Given the description of an element on the screen output the (x, y) to click on. 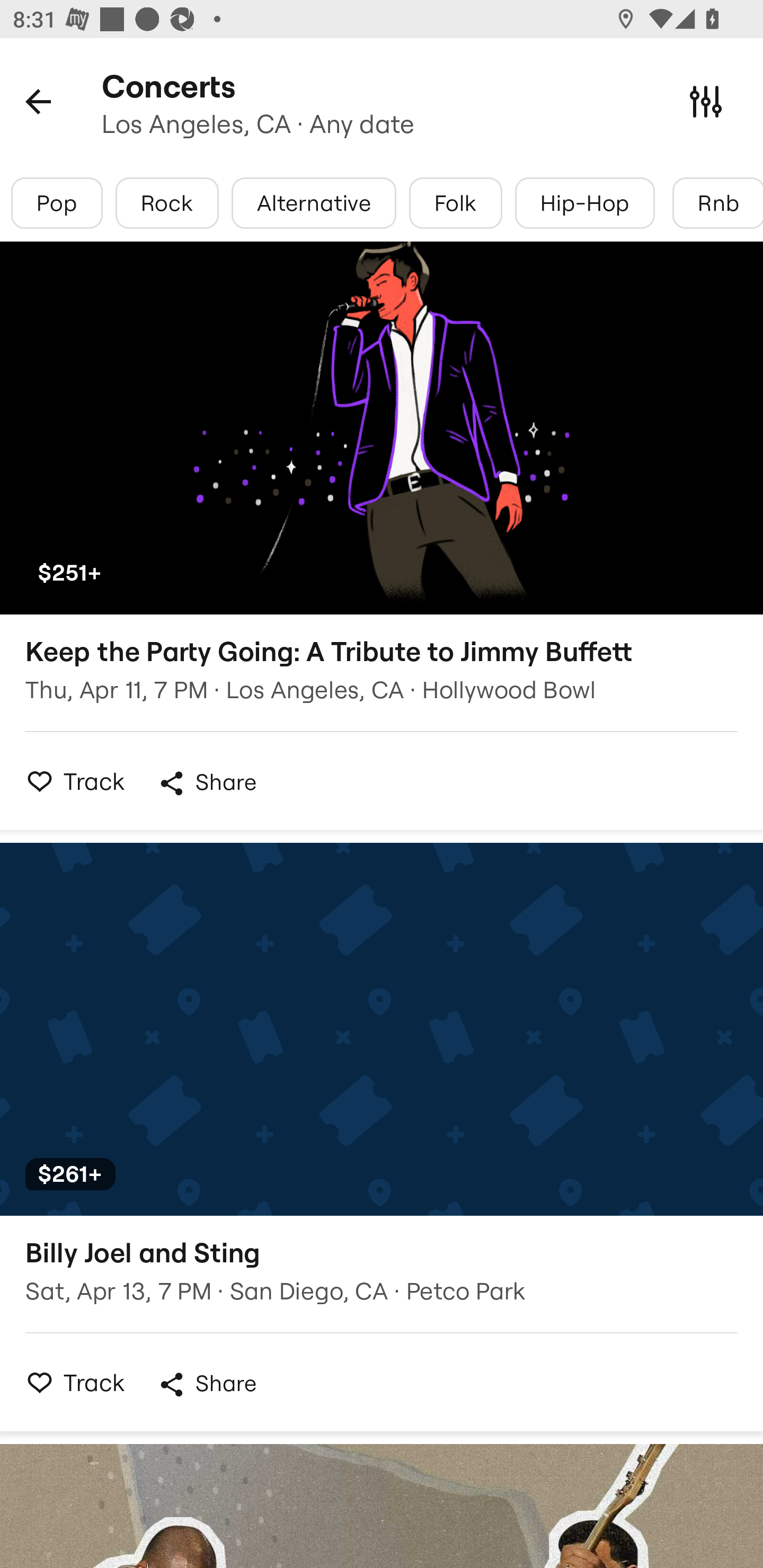
Back (38, 100)
Filters (705, 100)
Pop (57, 202)
Rock (166, 202)
Alternative (313, 202)
Folk (455, 202)
Hip-Hop (584, 202)
Rnb (717, 202)
Track (70, 780)
Share (207, 783)
Track (70, 1381)
Share (207, 1384)
